Given the description of an element on the screen output the (x, y) to click on. 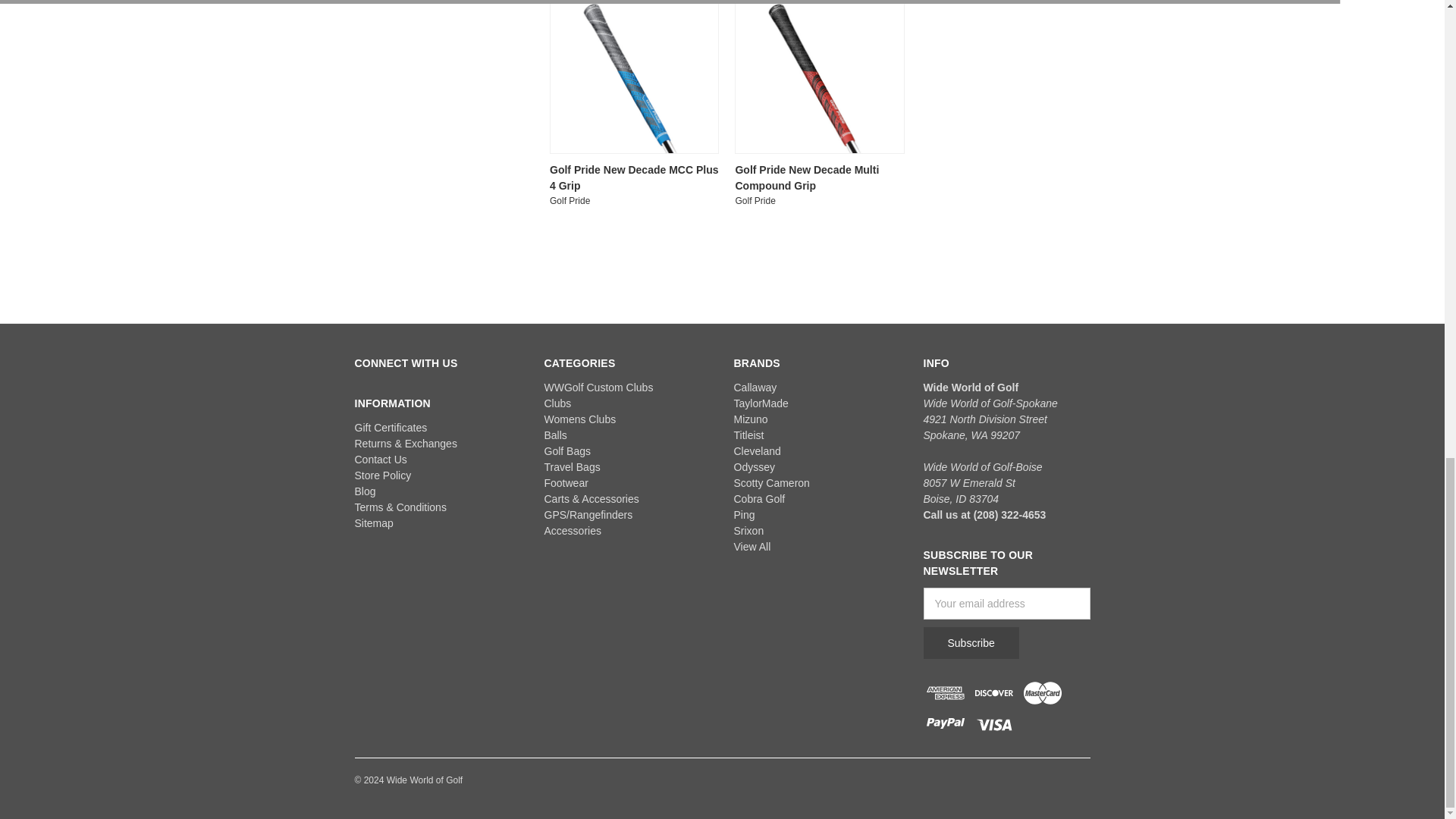
BLUE (634, 78)
Subscribe (971, 643)
